Given the description of an element on the screen output the (x, y) to click on. 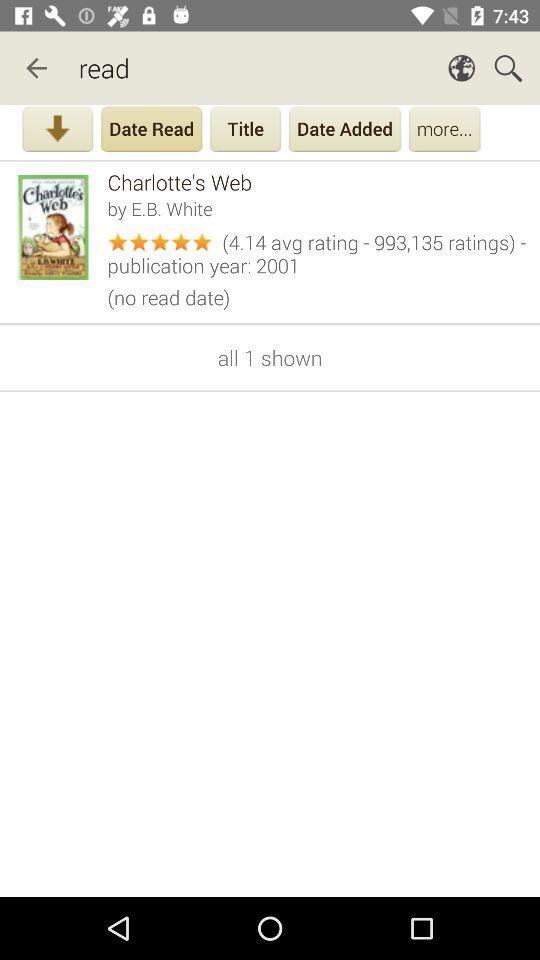
turn on the item below charlotte's web (316, 208)
